Given the description of an element on the screen output the (x, y) to click on. 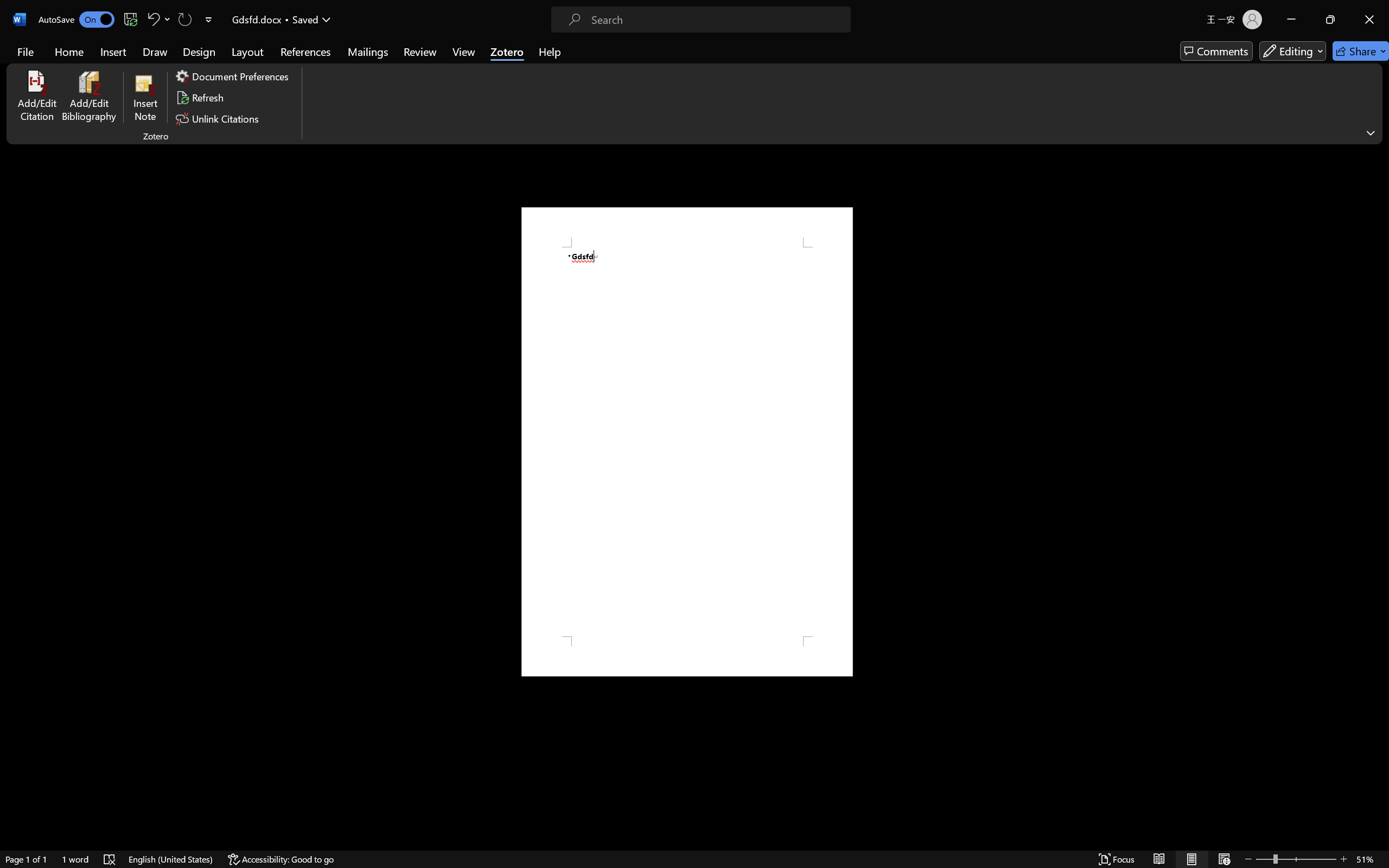
Page 1 content (686, 441)
